Given the description of an element on the screen output the (x, y) to click on. 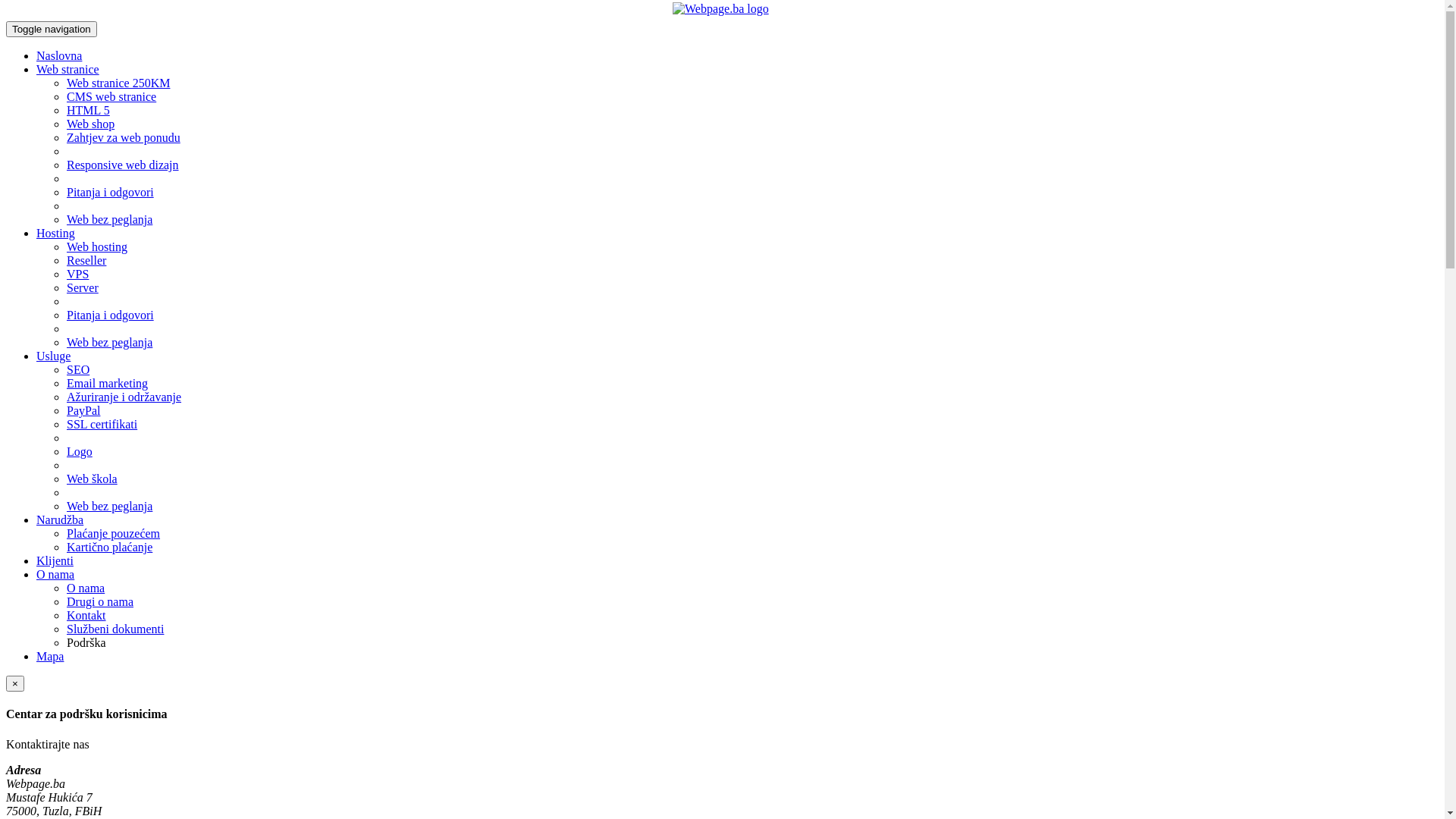
Zahtjev za web ponudu Element type: text (123, 137)
Responsive web dizajn Element type: text (122, 164)
PayPal Element type: text (83, 410)
Drugi o nama Element type: text (99, 601)
Web bez peglanja Element type: text (109, 341)
Klijenti Element type: text (54, 560)
Pitanja i odgovori Element type: text (109, 314)
HTML 5 Element type: text (87, 109)
Web stranice Element type: text (67, 68)
Naslovna Element type: text (58, 55)
O nama Element type: text (55, 573)
CMS web stranice Element type: text (111, 96)
Web shop Element type: text (90, 123)
Usluge Element type: text (53, 355)
VPS Element type: text (77, 273)
Web bez peglanja Element type: text (109, 505)
Kontakt Element type: text (86, 614)
Web hosting Element type: text (96, 246)
Pitanja i odgovori Element type: text (109, 191)
Server Element type: text (82, 287)
Web stranice 250KM Element type: text (117, 82)
Mapa Element type: text (49, 655)
Email marketing Element type: text (106, 382)
O nama Element type: text (85, 587)
Logo Element type: text (79, 451)
Hosting Element type: text (55, 232)
Toggle navigation Element type: text (51, 29)
SEO Element type: text (77, 369)
Reseller Element type: text (86, 260)
SSL certifikati Element type: text (101, 423)
Web bez peglanja Element type: text (109, 219)
